Given the description of an element on the screen output the (x, y) to click on. 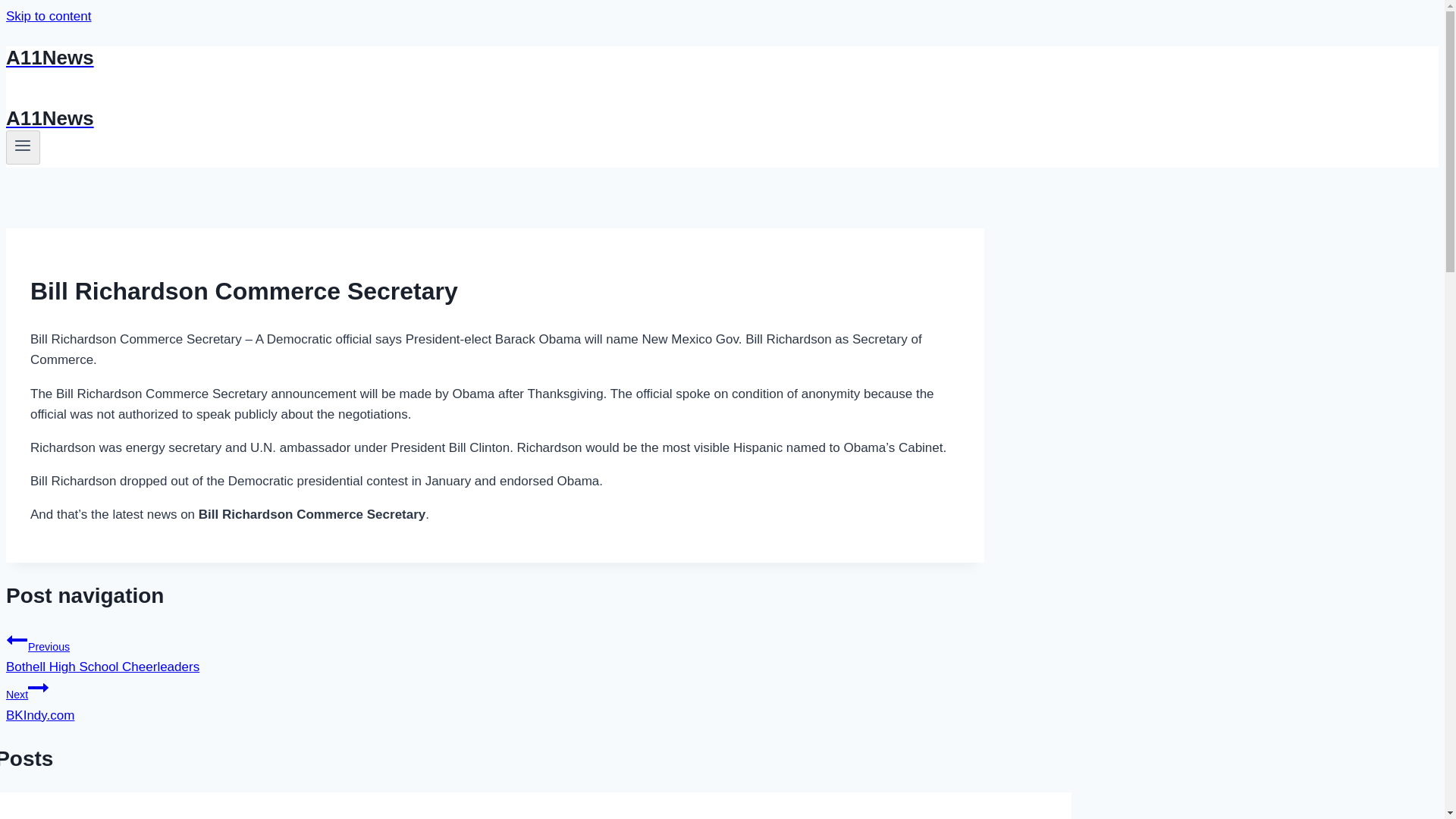
Toggle Menu (22, 145)
Previous (16, 639)
Skip to content (494, 699)
Toggle Menu (47, 16)
A11News (494, 651)
A11News (22, 146)
Skip to content (494, 57)
Continue (494, 118)
